Given the description of an element on the screen output the (x, y) to click on. 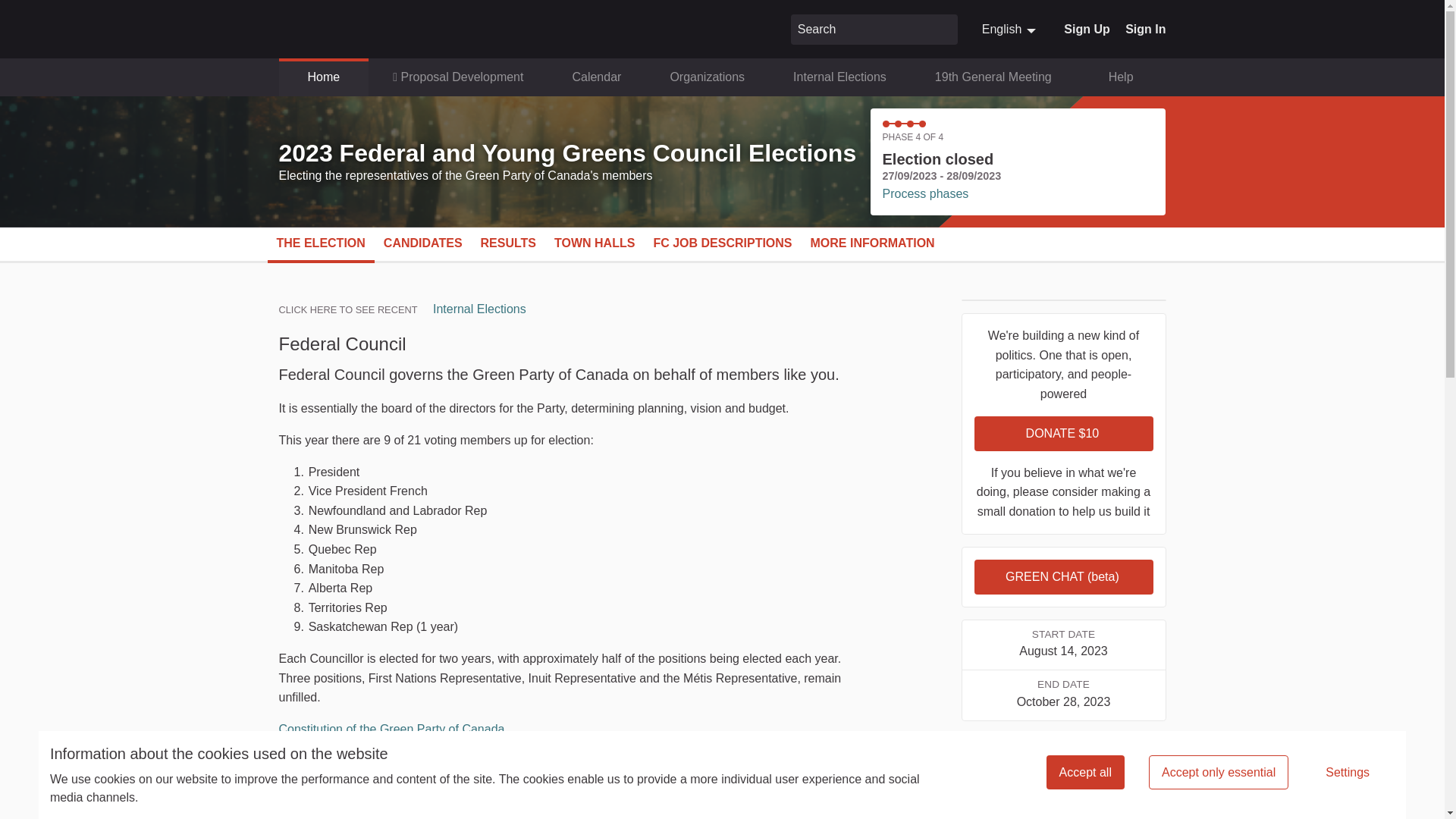
Internal Elections (839, 77)
flash (1016, 431)
CANDIDATES (423, 243)
RESULTS (507, 243)
MORE INFORMATION (872, 243)
Search (860, 28)
Accept only essential (1218, 772)
Organizations (706, 77)
19th General Meeting (993, 77)
Calendar (596, 77)
